Given the description of an element on the screen output the (x, y) to click on. 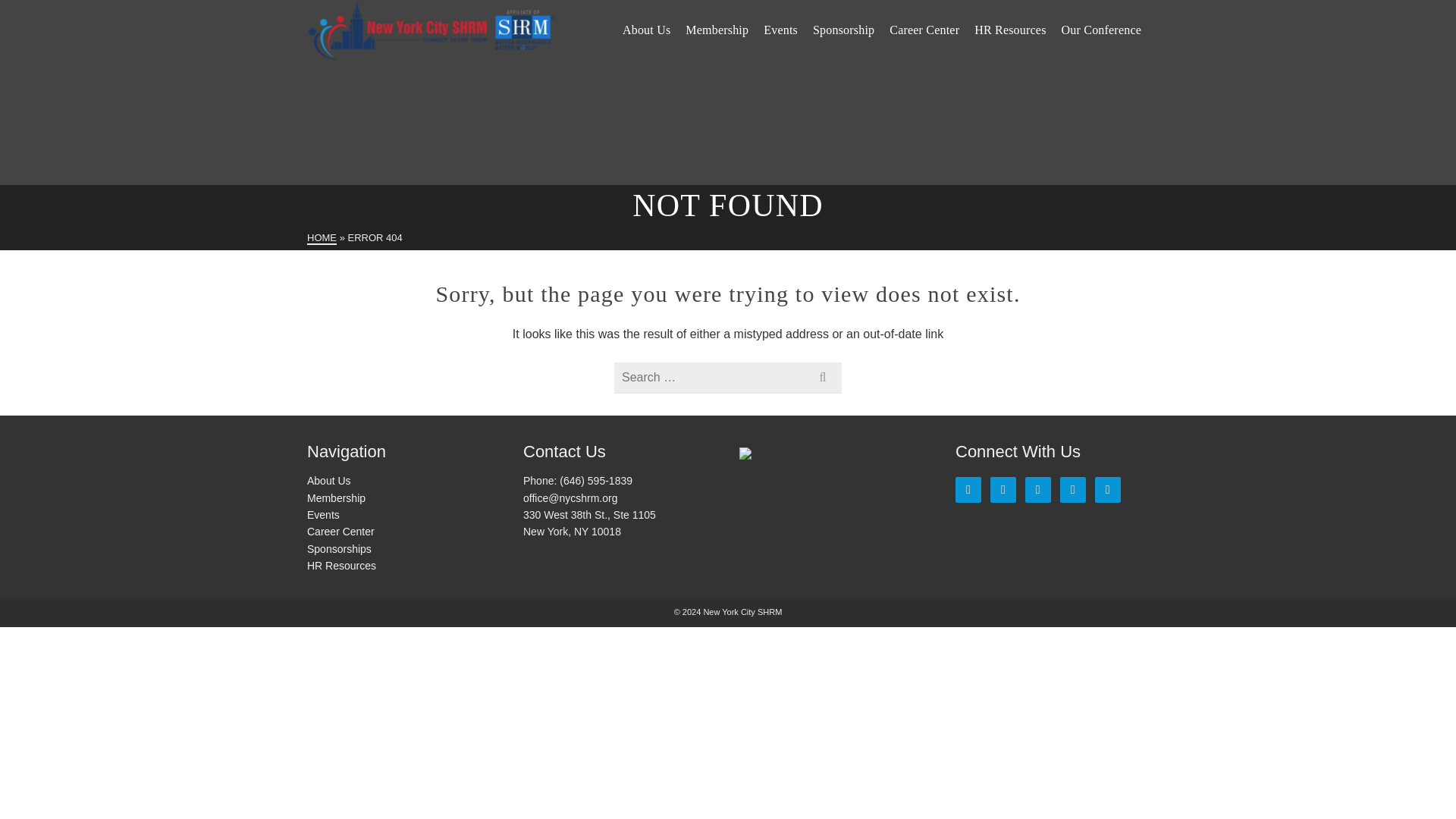
Career Center (924, 29)
Sponsorship (843, 29)
About Us (646, 29)
Our Conference (1101, 29)
HOME (321, 237)
Events (780, 29)
HR Resources (1009, 29)
Membership (716, 29)
